Given the description of an element on the screen output the (x, y) to click on. 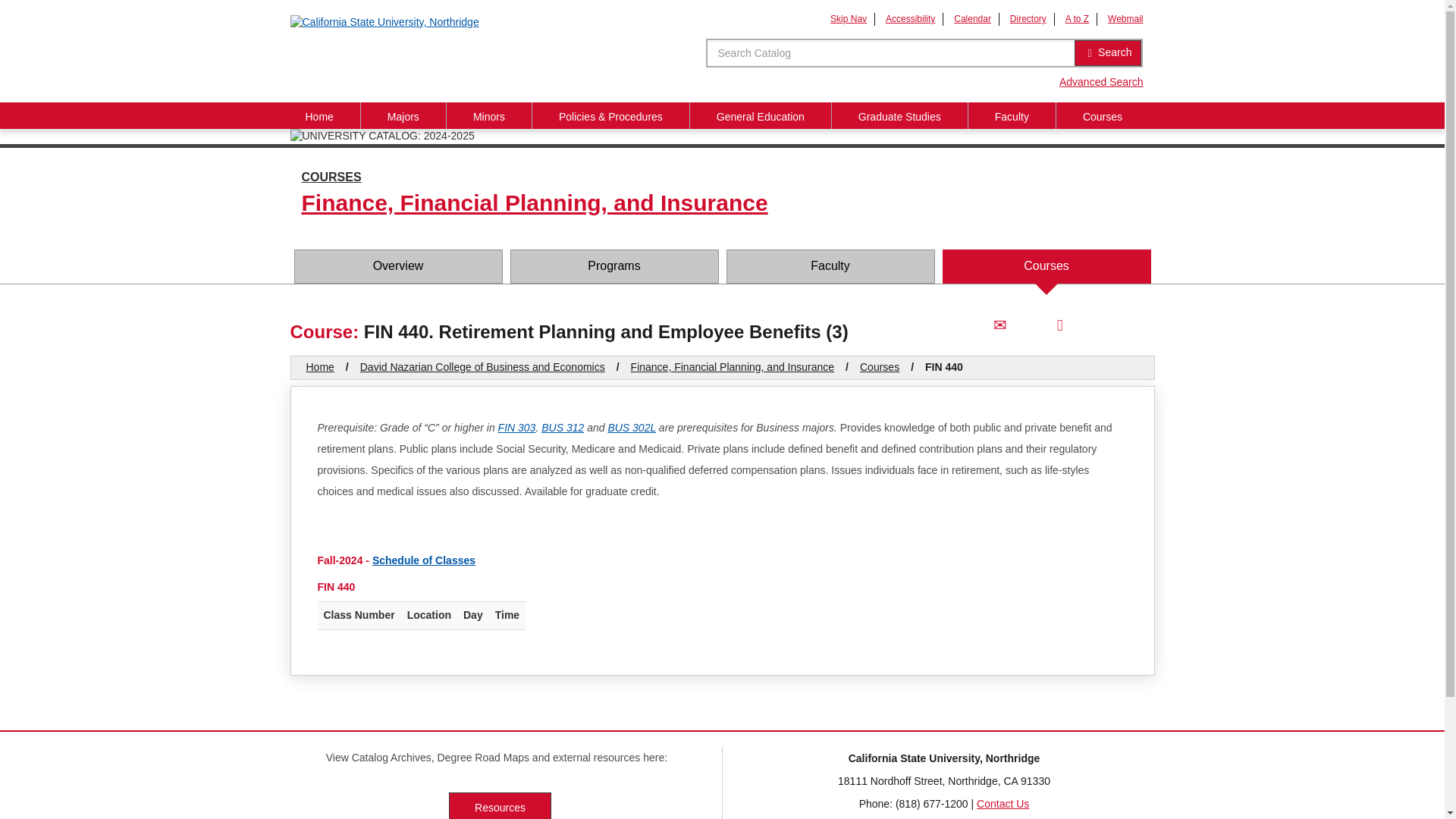
BUS 312 (562, 427)
Courses (1102, 115)
David Nazarian College of Business and Economics (482, 367)
Overview (398, 266)
Schedule of Classes (424, 560)
Finance, Financial Planning, and Insurance (732, 367)
Directory (1028, 18)
Search (1107, 53)
Faculty (830, 266)
Courses (1046, 266)
